Given the description of an element on the screen output the (x, y) to click on. 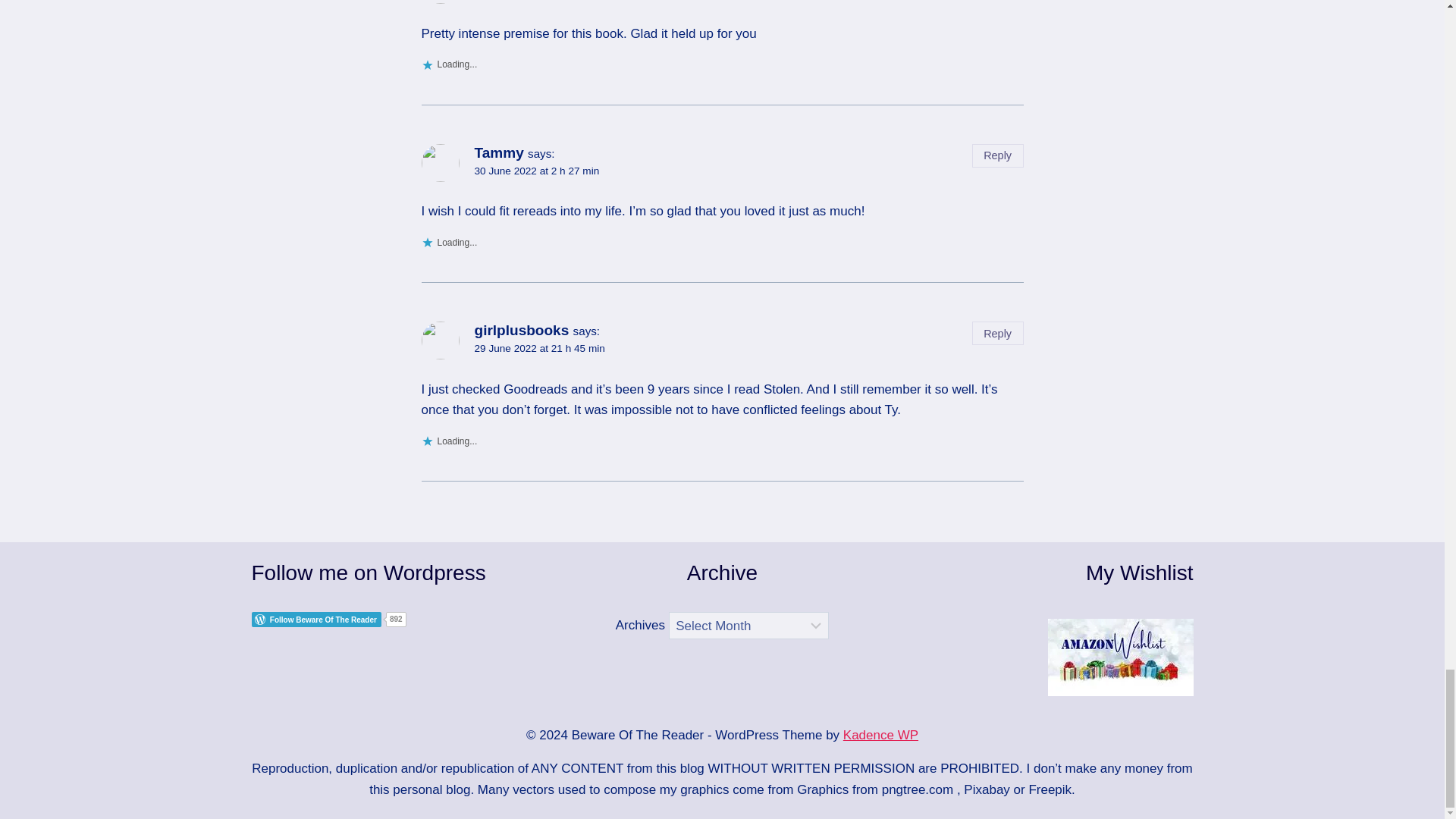
Follow Button (400, 619)
